Given the description of an element on the screen output the (x, y) to click on. 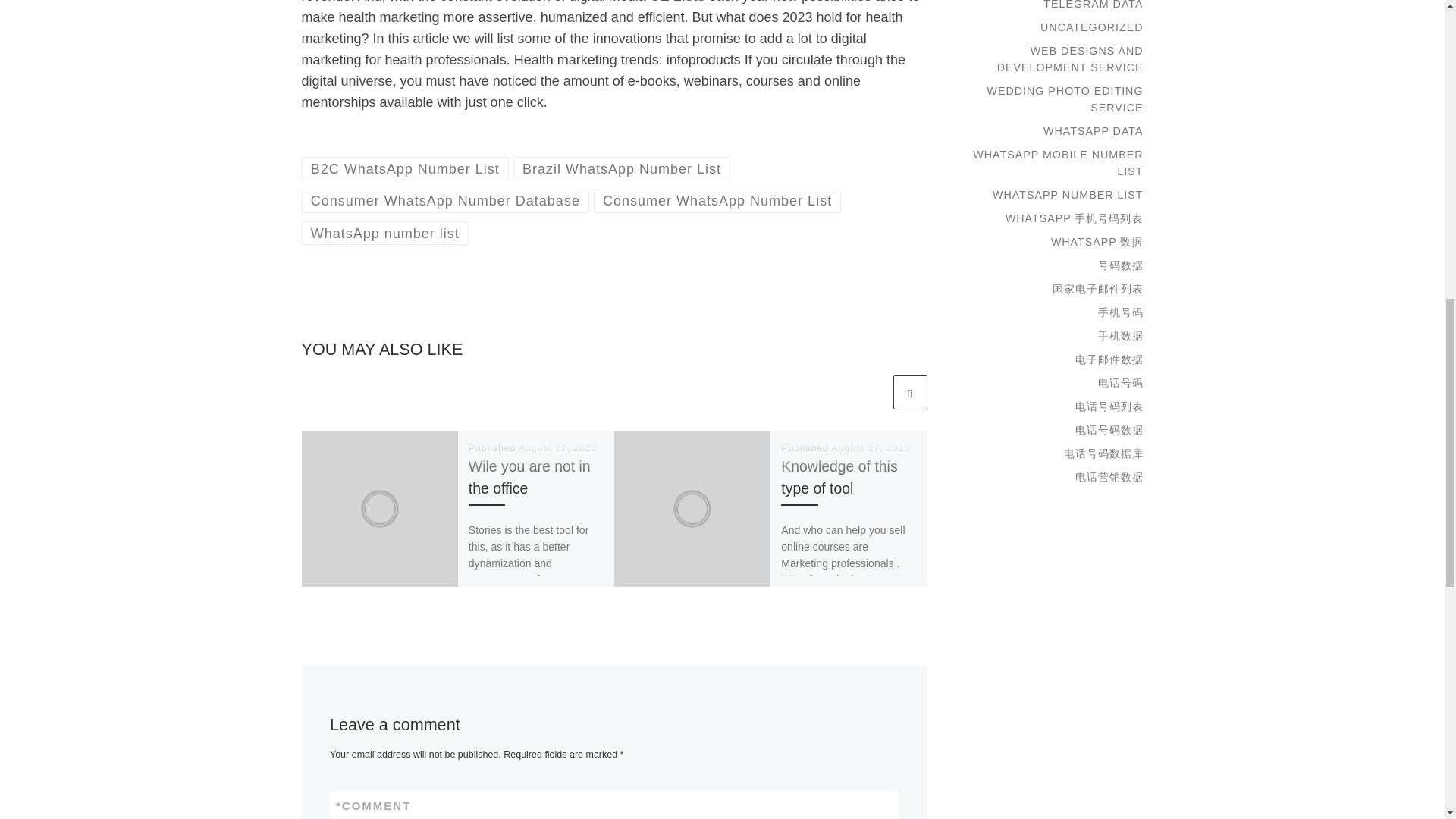
Previous related articles (872, 392)
WhatsApp number list (384, 232)
View all posts in Consumer WhatsApp Number List (717, 200)
Next related articles (910, 392)
B2C WhatsApp Number List (405, 168)
View all posts in WhatsApp number list (384, 232)
Wile you are not in the office (529, 476)
Consumer WhatsApp Number Database (445, 200)
Consumer WhatsApp Number List (717, 200)
Brazil WhatsApp Number List (621, 168)
View all posts in Consumer WhatsApp Number Database (445, 200)
August 27, 2023 (870, 448)
View all posts in Brazil WhatsApp Number List (621, 168)
View all posts in B2C WhatsApp Number List (405, 168)
